Given the description of an element on the screen output the (x, y) to click on. 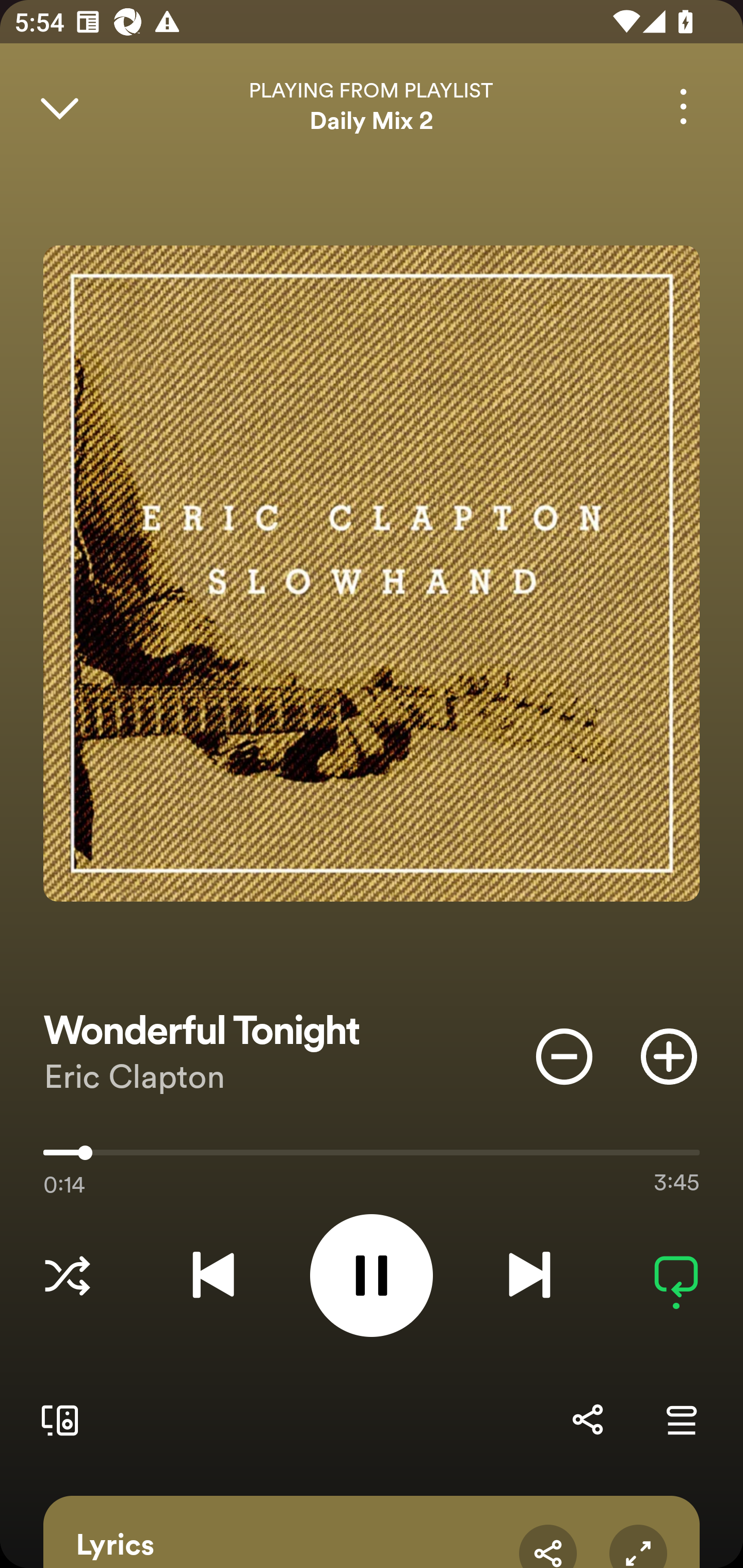
Close (59, 106)
More options for song Wonderful Tonight (683, 106)
PLAYING FROM PLAYLIST Daily Mix 2 (371, 106)
Don't play this (564, 1056)
Add item (669, 1056)
0:14 3:45 14239.0 Use volume keys to adjust (371, 1157)
Pause (371, 1275)
Previous (212, 1275)
Next (529, 1275)
Shuffle tracks (66, 1275)
Repeat (676, 1275)
Share (587, 1419)
Go to Queue (681, 1419)
Connect to a device. Opens the devices menu (55, 1419)
Lyrics Share Expand (371, 1531)
Share (547, 1546)
Expand (638, 1546)
